Given the description of an element on the screen output the (x, y) to click on. 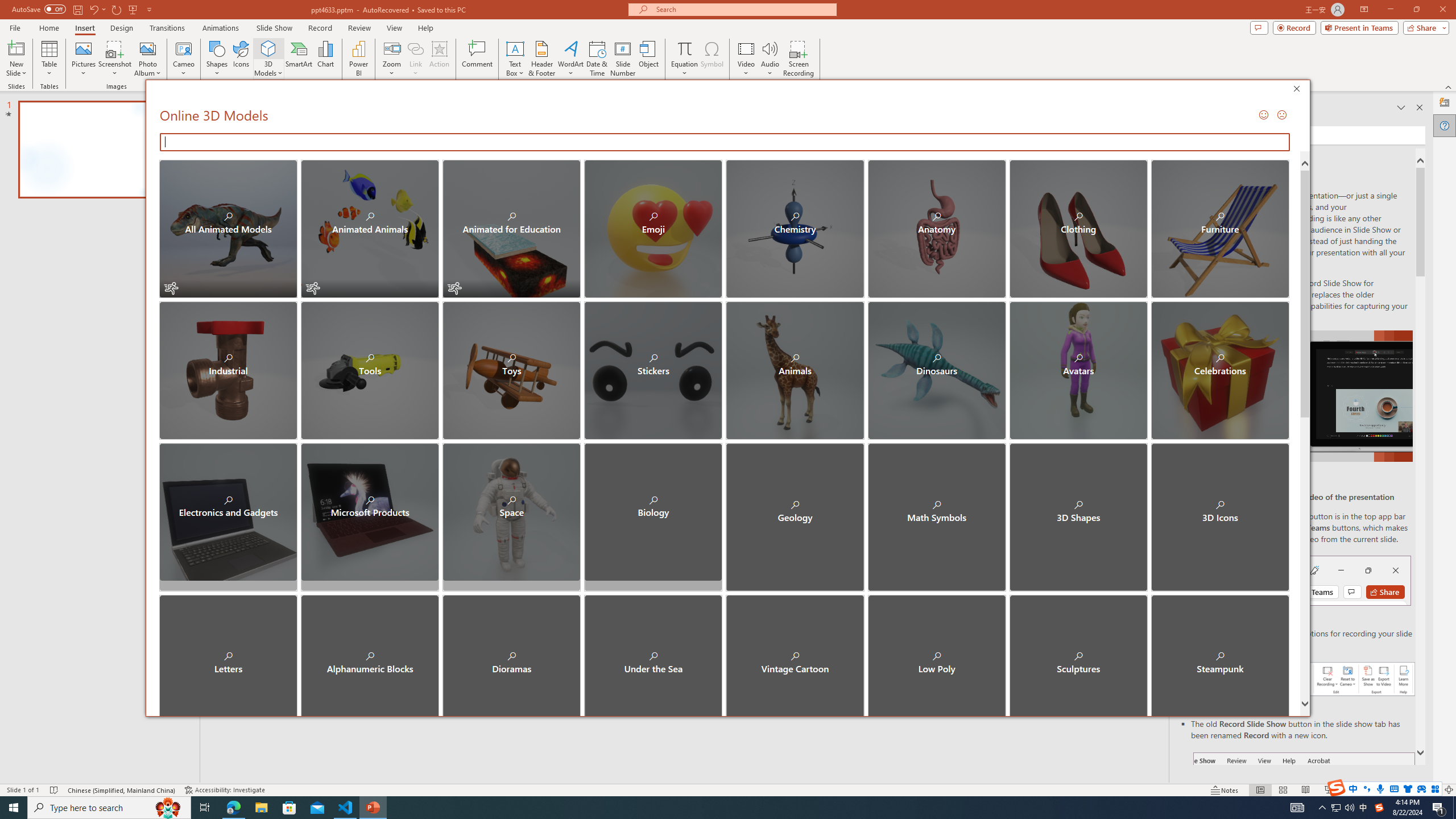
Furniture (1219, 228)
Biology (653, 511)
Toys (510, 370)
Celebrations (1219, 370)
Table (49, 58)
Date & Time... (596, 58)
Send a Frown (1280, 114)
All Animated Models (228, 228)
